Given the description of an element on the screen output the (x, y) to click on. 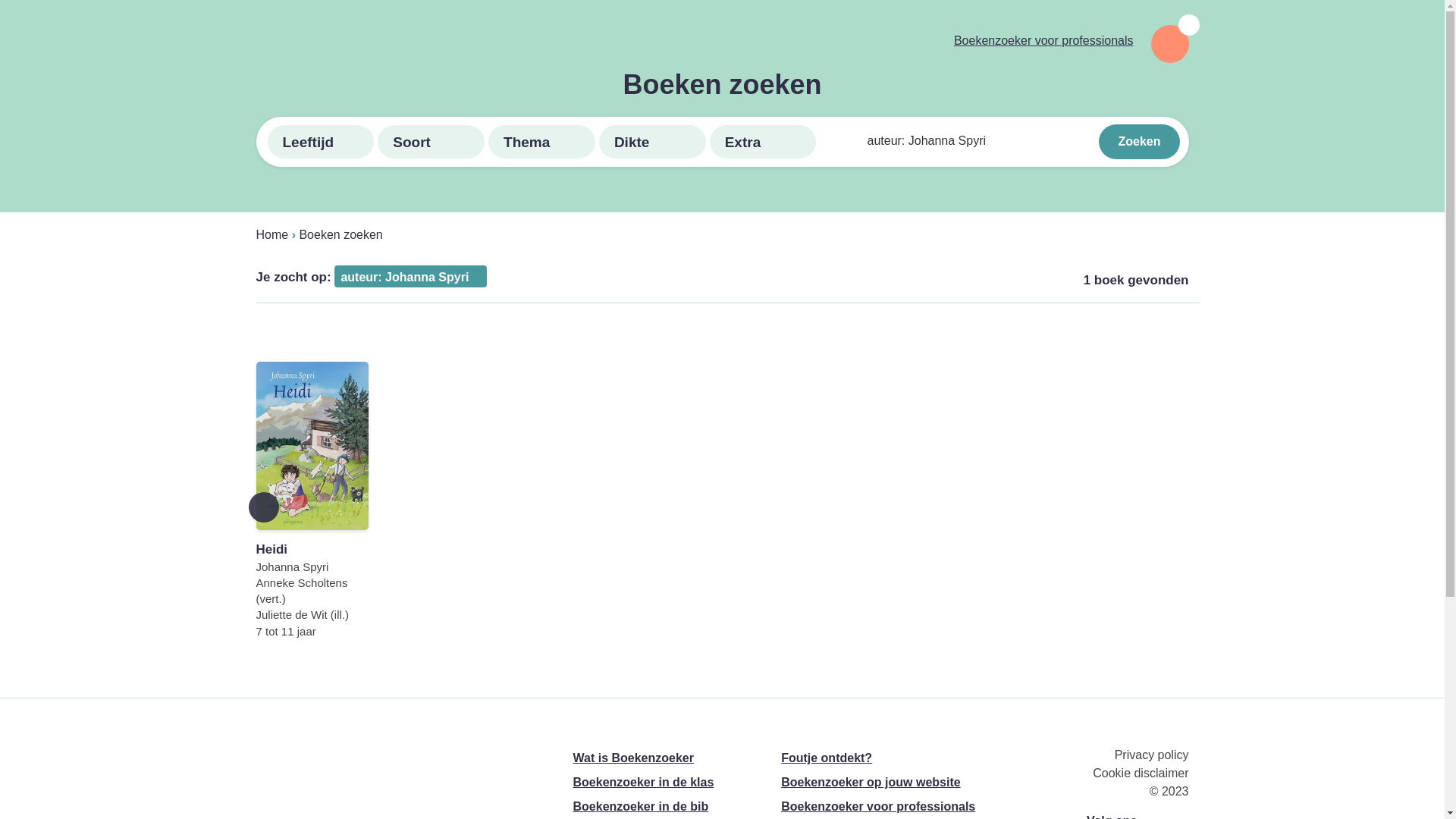
Home Element type: hover (363, 758)
Boekenzoeker Element type: text (363, 41)
Zoeken Element type: text (1138, 141)
Boekenzoeker op jouw website Element type: text (870, 781)
Boekenzoeker voor professionals Element type: text (878, 806)
Boekenzoeker in de klas Element type: text (643, 781)
Home Element type: text (272, 234)
Boekenzoeker voor professionals Element type: text (1043, 40)
Wat is Boekenzoeker Element type: text (633, 757)
Overslaan en naar de inhoud gaan Element type: text (0, 0)
auteur: Johanna Spyri Element type: text (410, 276)
Foutje ontdekt? Element type: text (826, 757)
Cookie disclaimer Element type: text (1140, 772)
Privacy policy Element type: text (1151, 754)
Boekenzoeker in de bib Element type: text (641, 806)
